Given the description of an element on the screen output the (x, y) to click on. 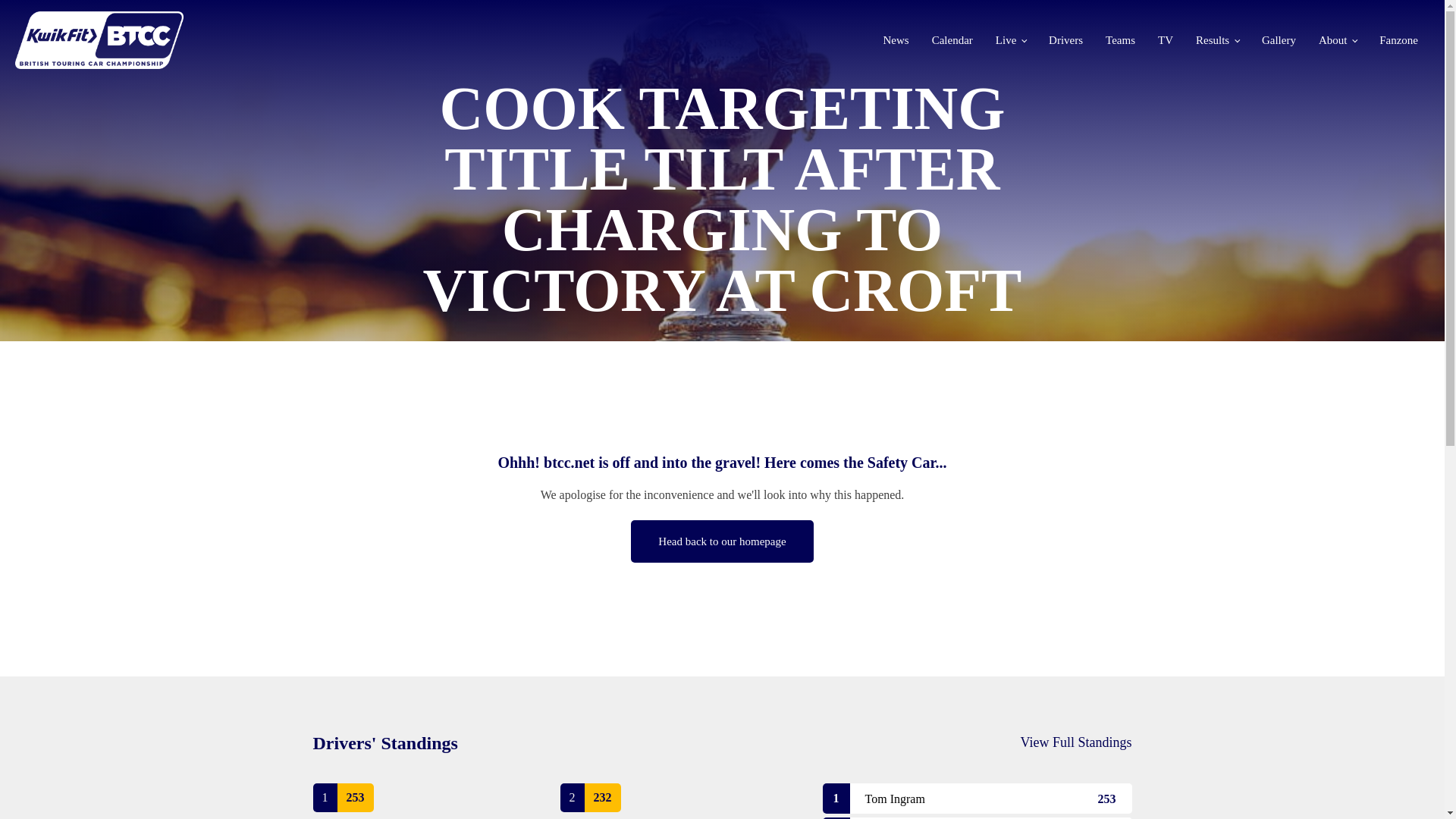
Live (1010, 40)
Results (1217, 40)
Fanzone (1398, 40)
Calendar (951, 40)
Teams (1119, 40)
Drivers (1065, 40)
TV (1165, 40)
About (1337, 40)
News (895, 40)
Gallery (1278, 40)
